Given the description of an element on the screen output the (x, y) to click on. 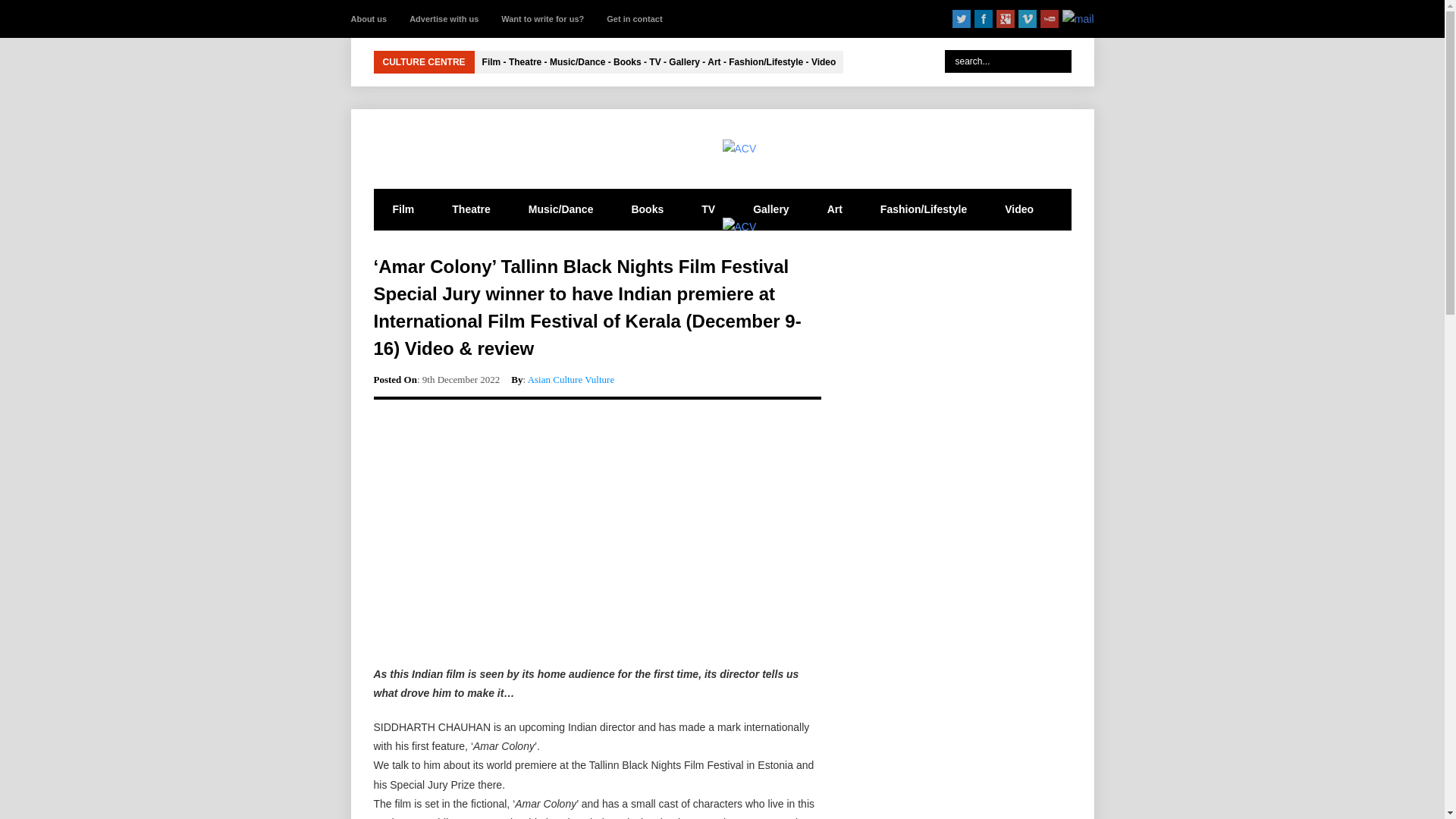
search... (1007, 60)
Want to write for us? (541, 18)
Advertise with us (444, 18)
mail (1078, 18)
Video (1018, 209)
Posts by Asian Culture Vulture (570, 378)
Art (834, 209)
Books (646, 209)
facebook (983, 18)
Asian Culture Vulture (570, 378)
Theatre (470, 209)
Film (402, 209)
About us (368, 18)
twitter (961, 18)
